Given the description of an element on the screen output the (x, y) to click on. 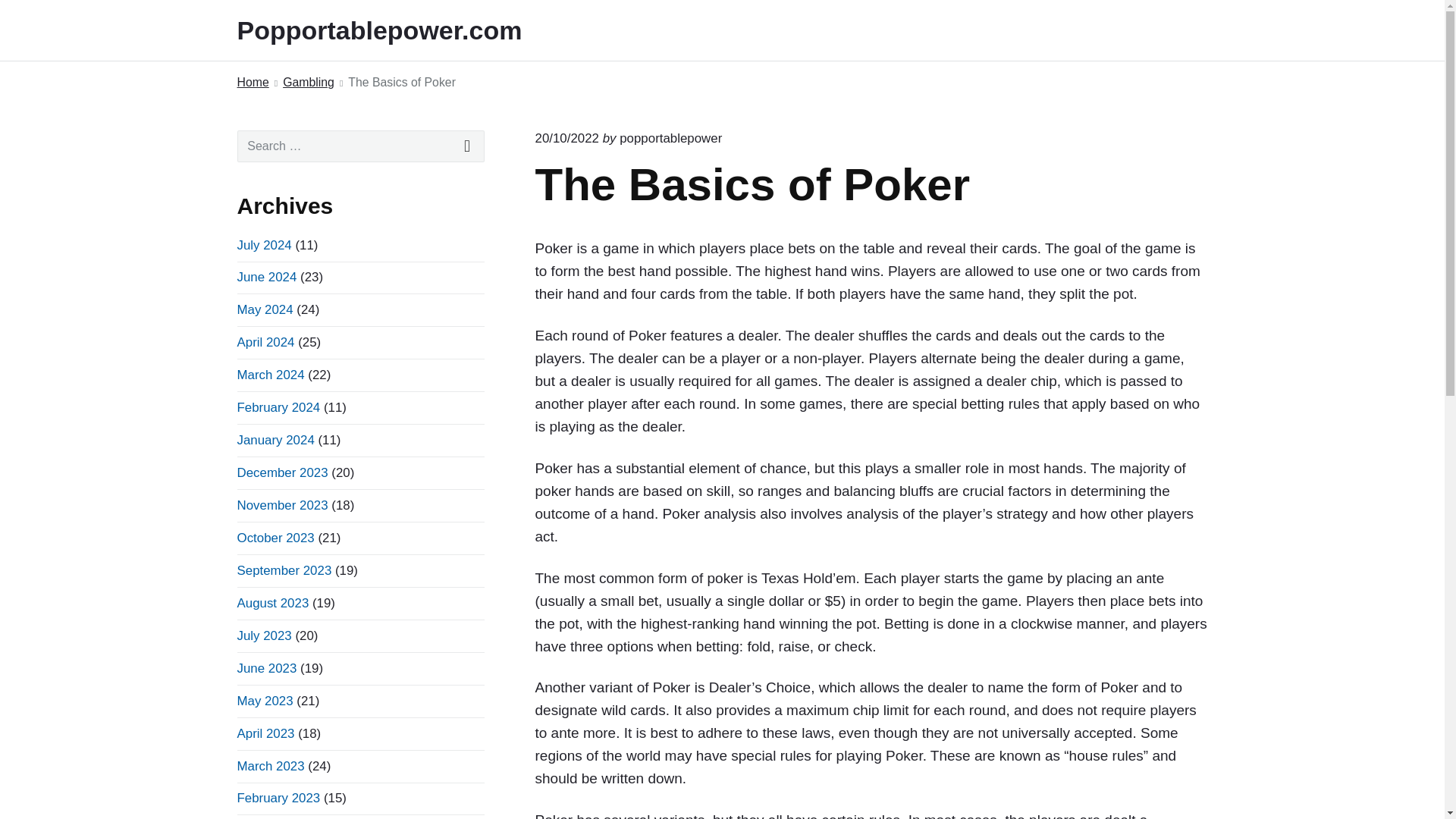
Gambling (308, 82)
July 2024 (263, 245)
August 2023 (271, 603)
July 2023 (263, 635)
Home (251, 82)
June 2023 (266, 667)
Posts by popportablepower (671, 138)
June 2024 (266, 277)
Thursday, October 20, 2022, 12:07 pm (566, 138)
SEARCH (466, 146)
October 2023 (274, 537)
December 2023 (281, 472)
September 2023 (283, 570)
popportablepower (671, 138)
May 2024 (263, 309)
